Given the description of an element on the screen output the (x, y) to click on. 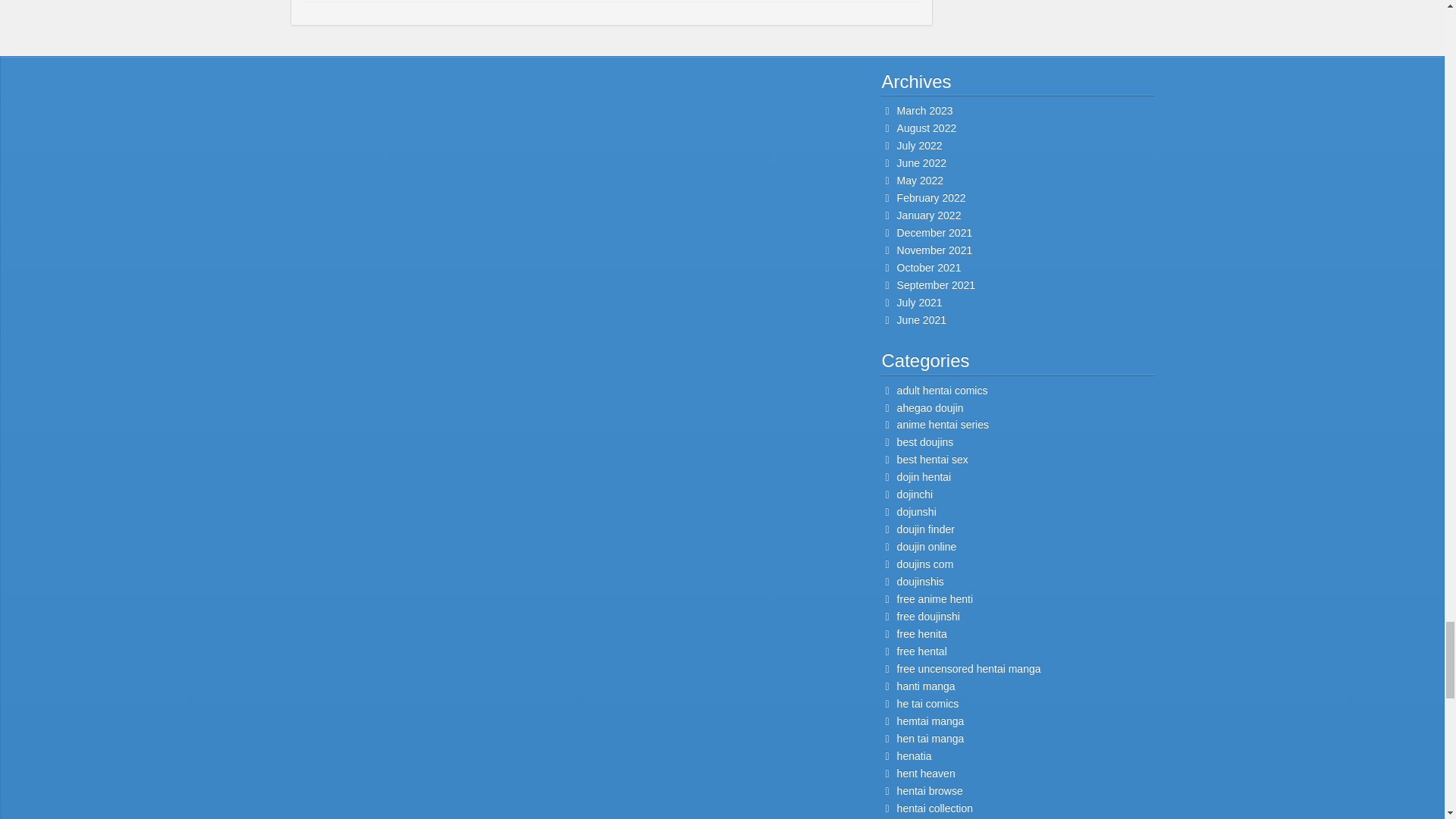
September 2021 (935, 285)
July 2022 (919, 145)
August 2022 (926, 128)
February 2022 (931, 197)
March 2023 (924, 110)
May 2022 (919, 180)
October 2021 (928, 267)
January 2022 (928, 215)
June 2022 (921, 162)
November 2021 (934, 250)
